Given the description of an element on the screen output the (x, y) to click on. 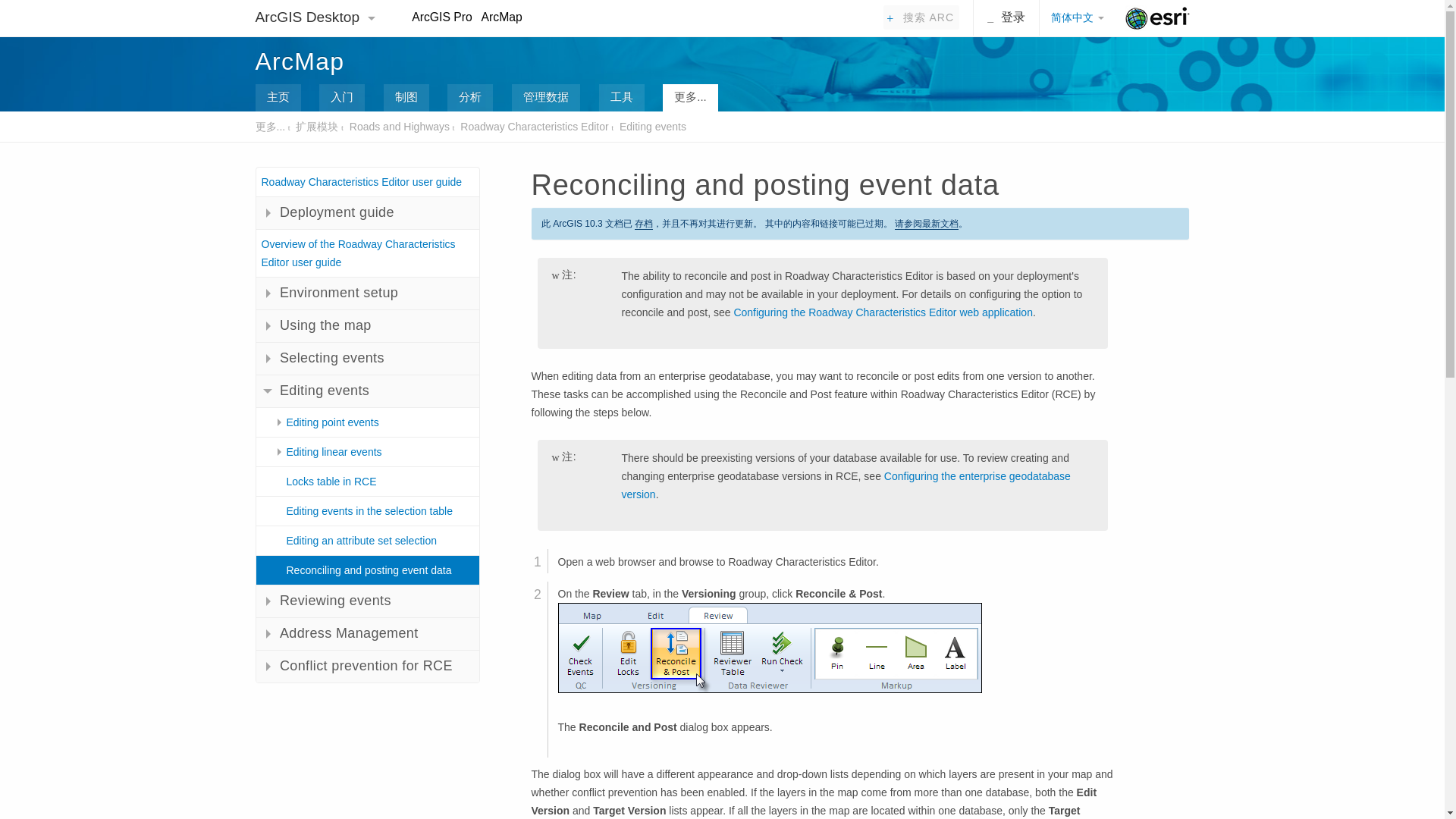
ArcGIS Desktop (308, 17)
ArcGIS Pro (441, 16)
Esri (1157, 18)
ArcMap (298, 61)
ArcMap (501, 16)
